Given the description of an element on the screen output the (x, y) to click on. 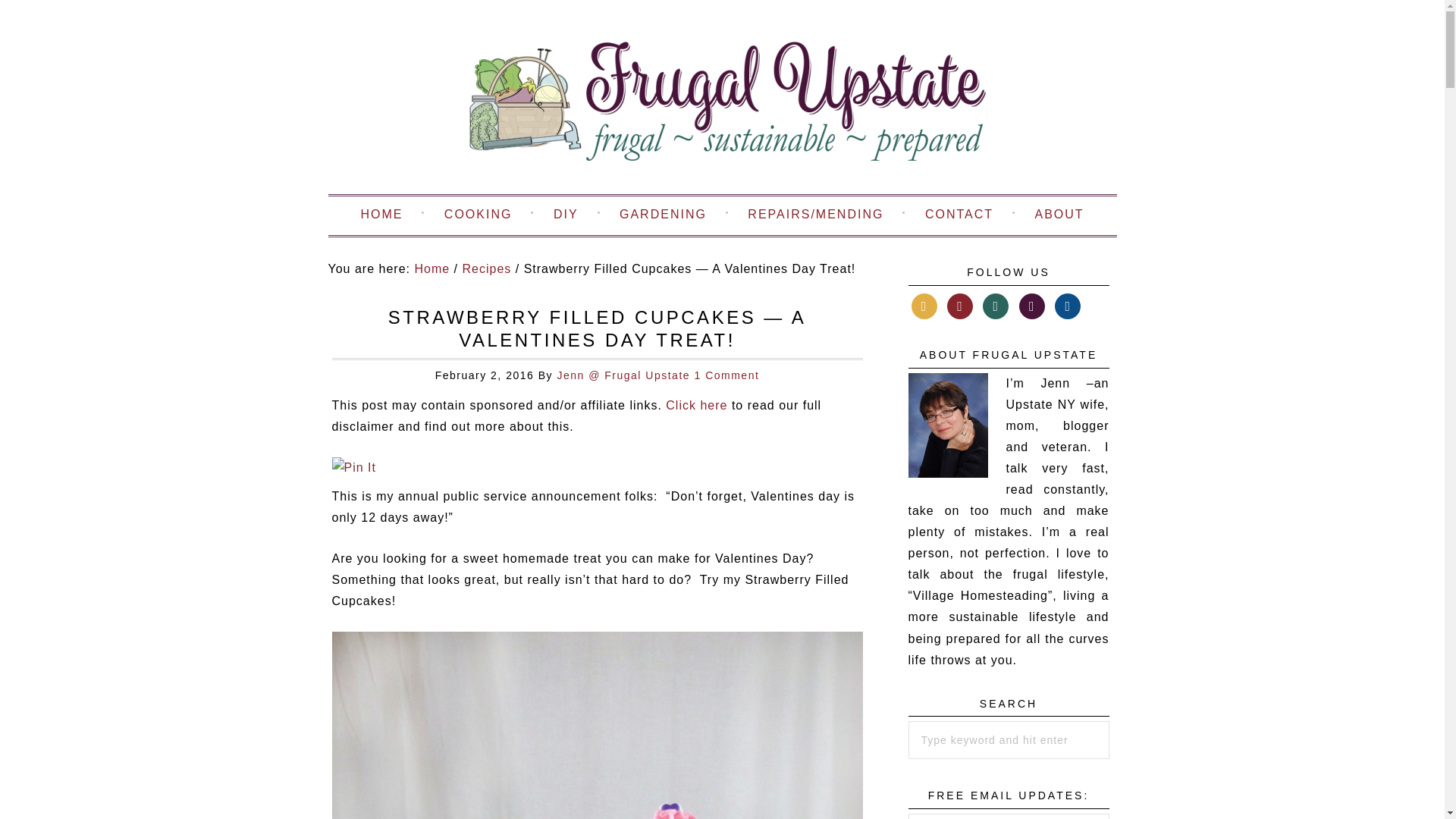
Follow Me (959, 305)
Home (431, 268)
CONTACT (959, 215)
Click here (695, 404)
FRUGAL UPSTATE (721, 103)
1 Comment (726, 375)
ABOUT (1059, 215)
Pin It (353, 467)
HOME (381, 215)
